Given the description of an element on the screen output the (x, y) to click on. 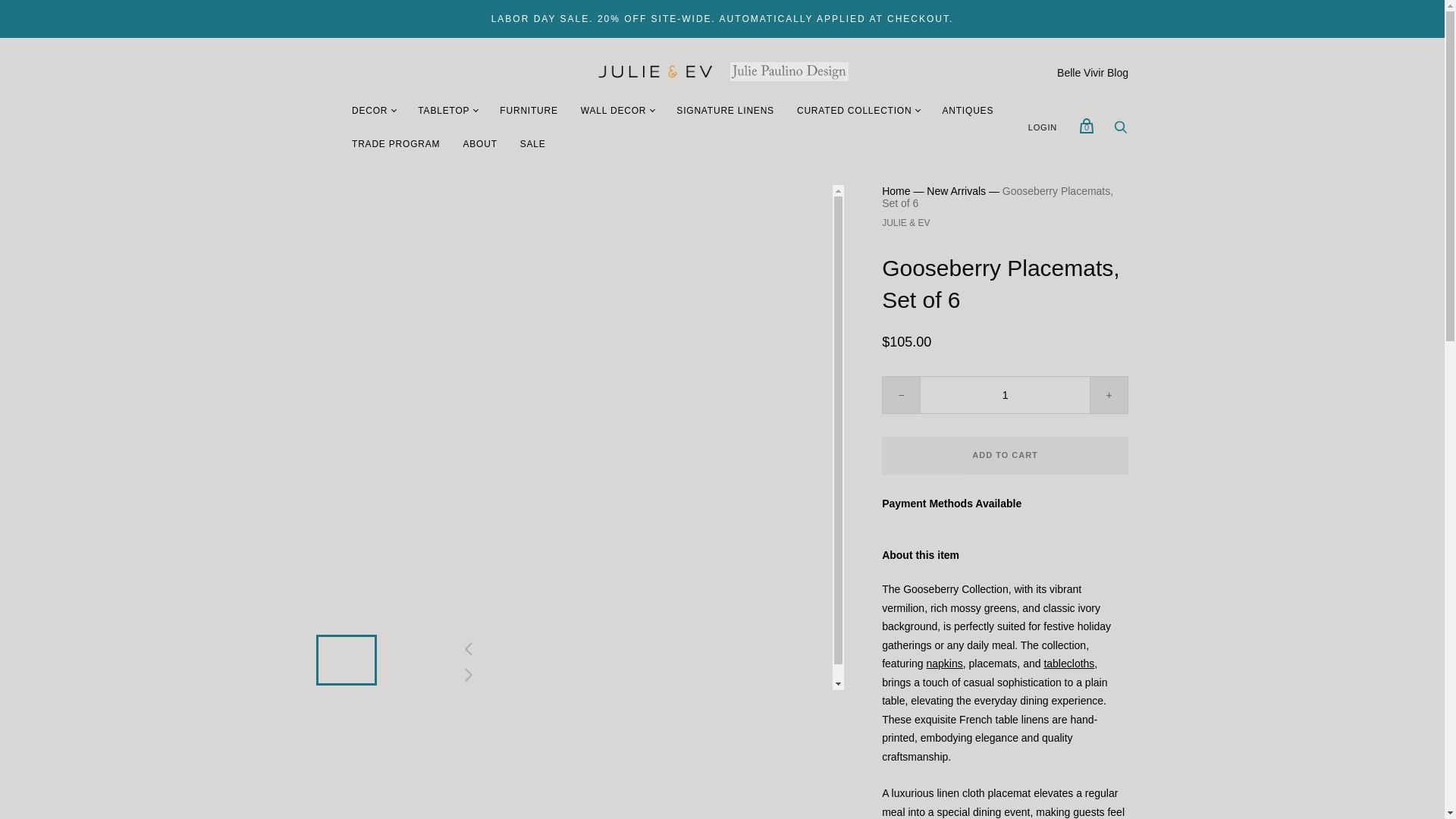
TABLETOP (443, 111)
ANTIQUES (967, 111)
ABOUT (479, 144)
DECOR (369, 111)
Home (896, 191)
TRADE PROGRAM (395, 144)
SALE (532, 144)
SIGNATURE LINENS (725, 111)
Belle Vivir Blog (1092, 72)
1 (1005, 394)
